Given the description of an element on the screen output the (x, y) to click on. 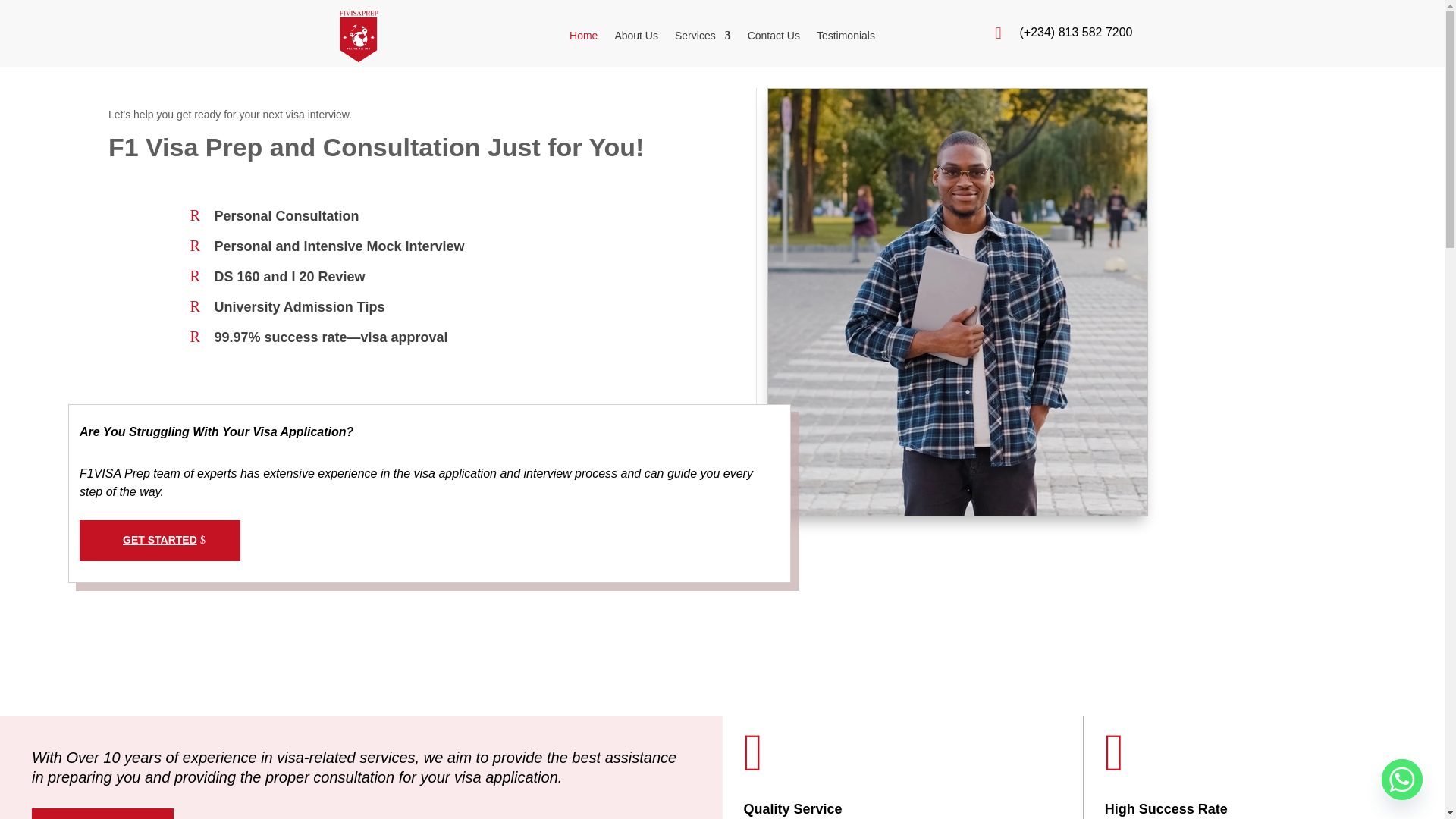
Services (702, 38)
About Us (636, 38)
Contact Us (773, 38)
Testimonials (845, 38)
Home (582, 38)
f1visaprep-logo (357, 36)
